Given the description of an element on the screen output the (x, y) to click on. 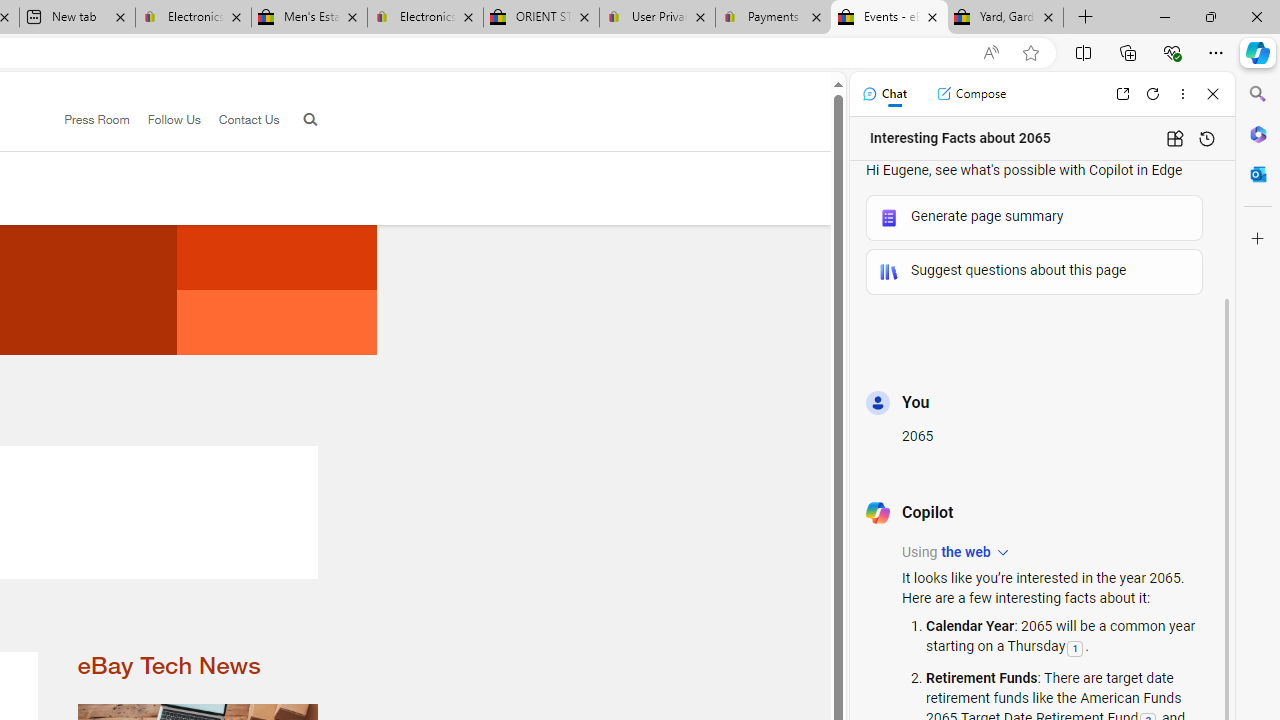
Compose (971, 93)
